Given the description of an element on the screen output the (x, y) to click on. 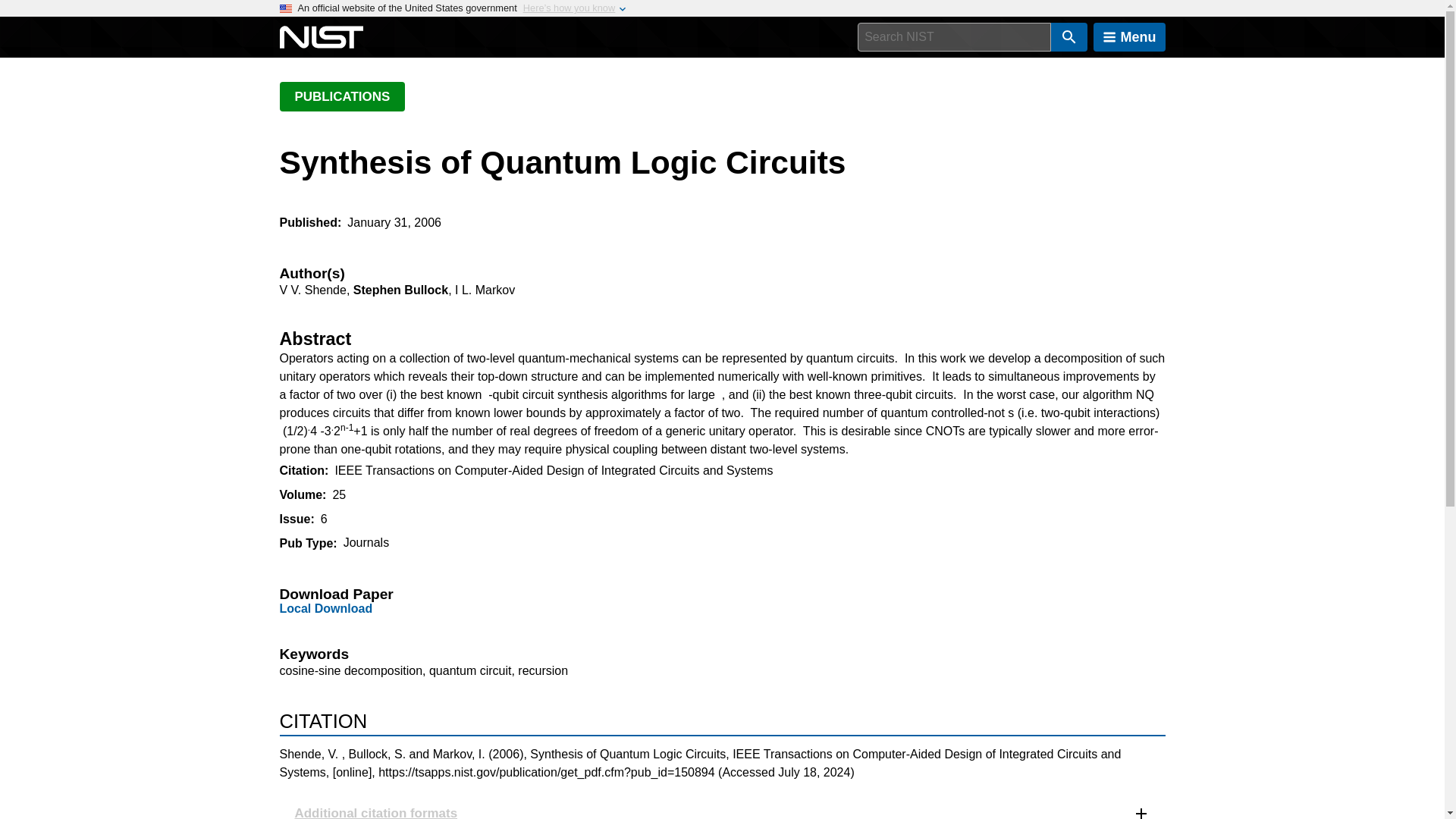
Menu (1129, 36)
Local Download (325, 608)
PUBLICATIONS (341, 96)
National Institute of Standards and Technology (320, 36)
Additional citation formats (721, 806)
